Given the description of an element on the screen output the (x, y) to click on. 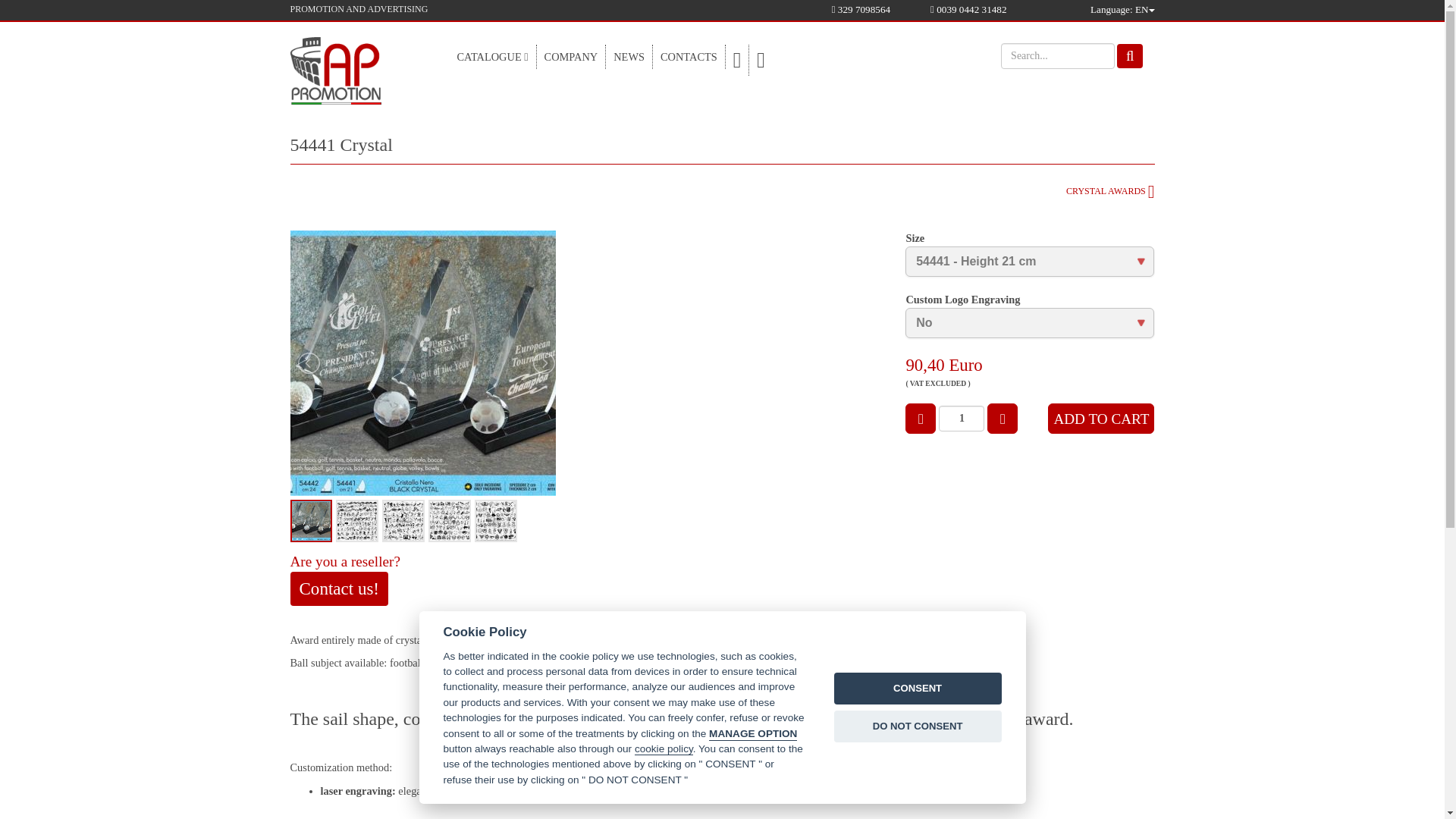
Torna a CRYSTAL AWARDS (1109, 190)
COMPANY (571, 56)
1 (961, 418)
CATALOGUE (491, 56)
0039 0442 31482 (968, 9)
54441 Crystal with laser engraving (421, 362)
Language: EN (1122, 10)
CONTACTS (688, 56)
329 7098564 (860, 9)
NEWS (628, 56)
